Given the description of an element on the screen output the (x, y) to click on. 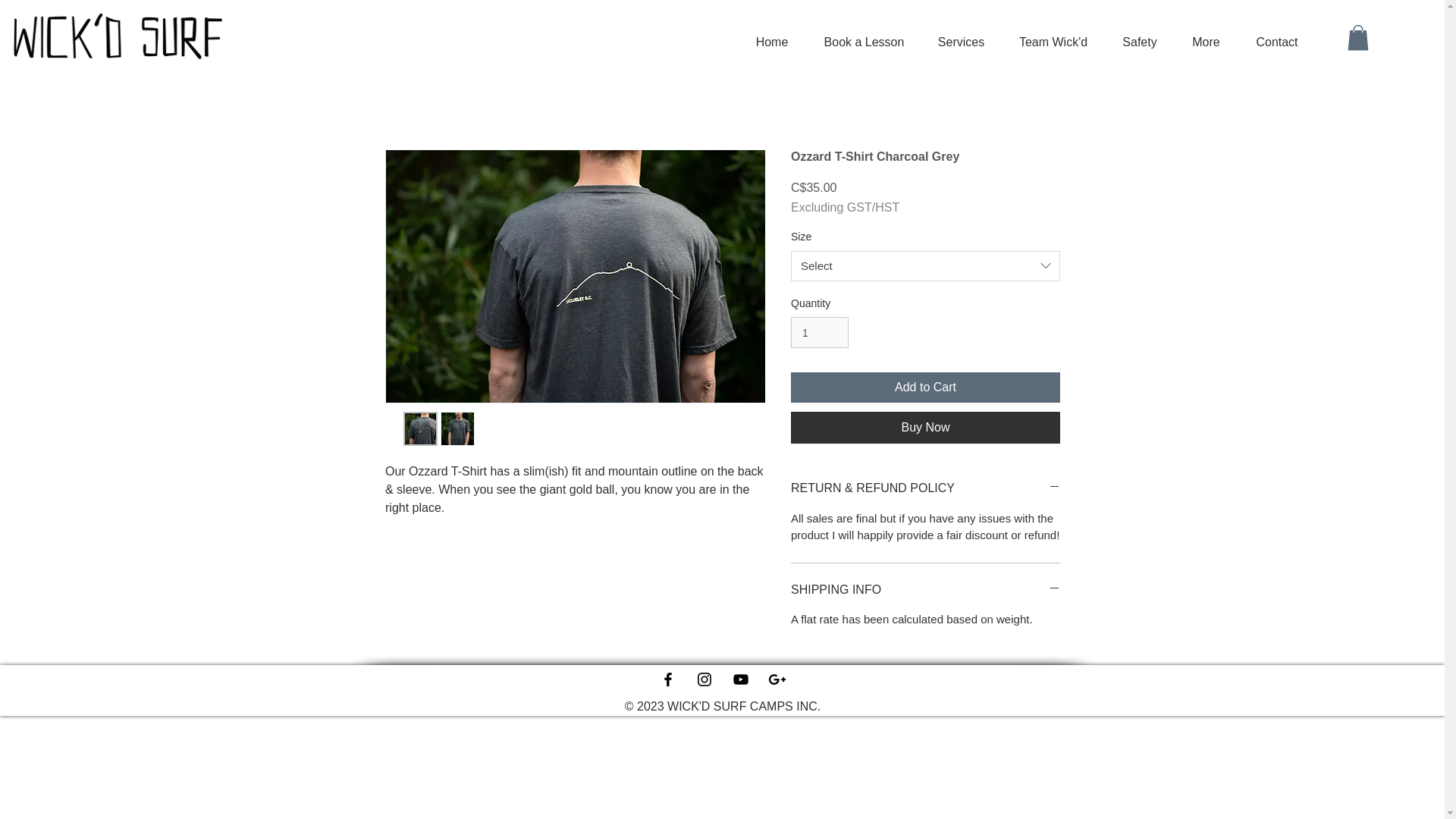
Select (924, 265)
Home (771, 42)
Book a Lesson (863, 42)
1 (819, 332)
Team Wick'd (1053, 42)
Contact (1277, 42)
SHIPPING INFO (924, 589)
Buy Now (924, 427)
Add to Cart (924, 387)
